Given the description of an element on the screen output the (x, y) to click on. 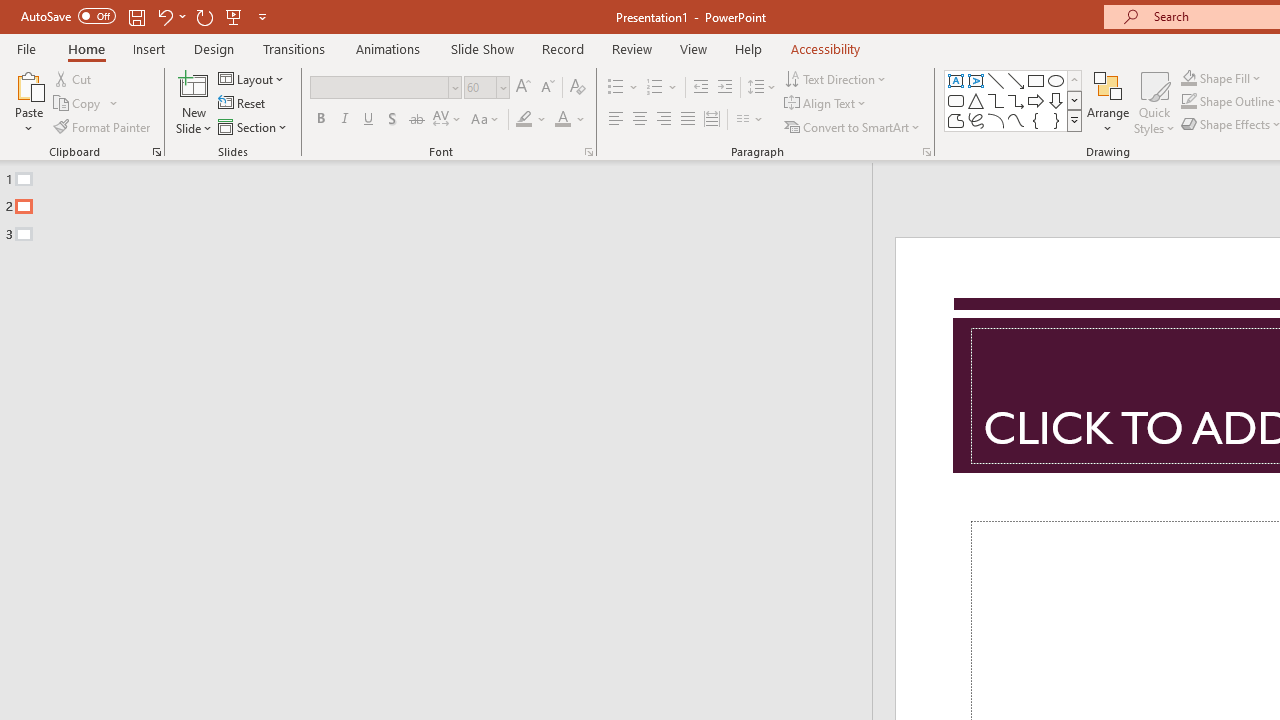
Outline (445, 202)
